Given the description of an element on the screen output the (x, y) to click on. 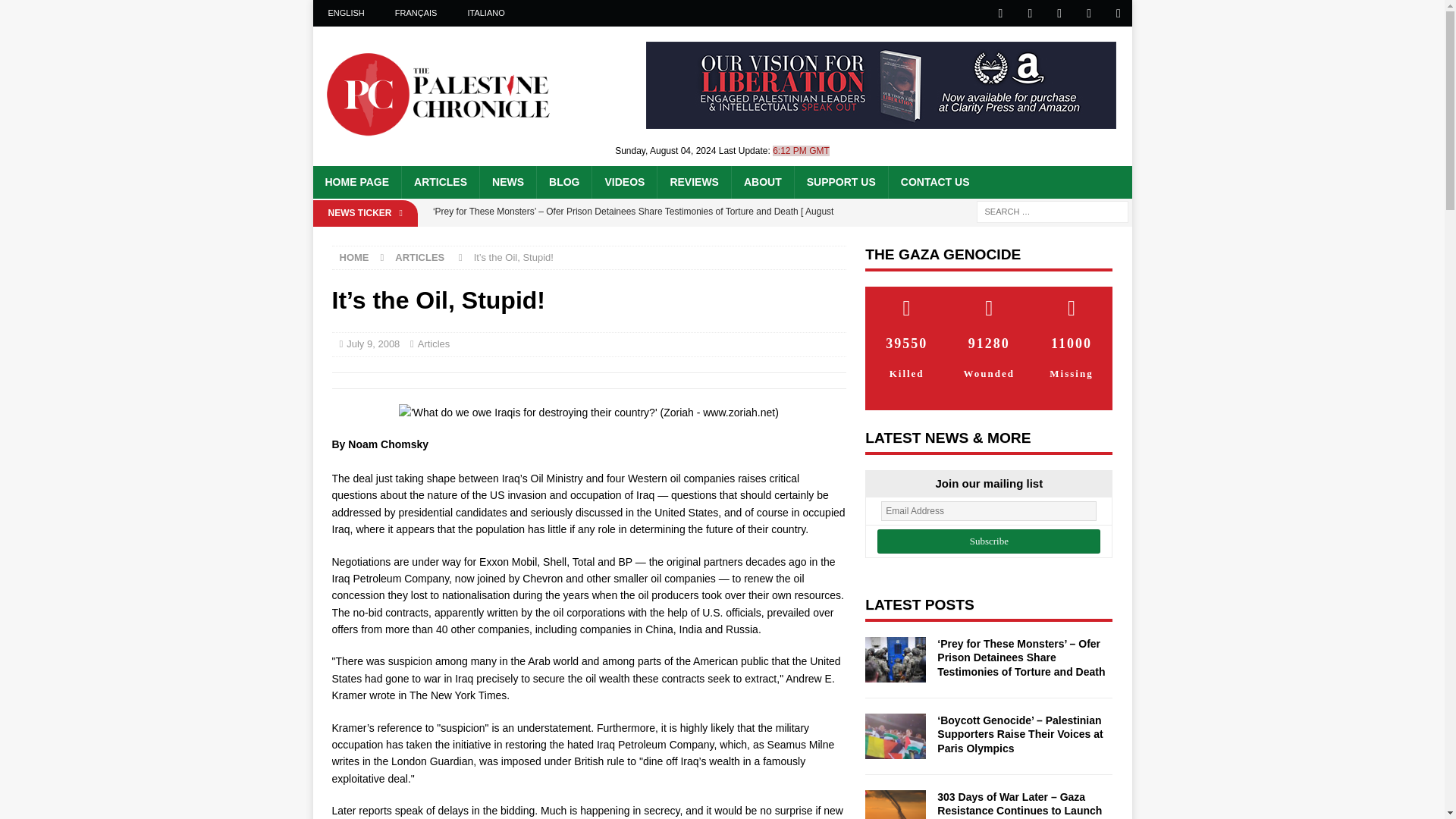
ITALIANO (485, 13)
THE GAZA GENOCIDE (942, 254)
HOME PAGE (357, 182)
July 9, 2008 (372, 343)
SUPPORT US (840, 182)
Articles (433, 343)
Subscribe (988, 541)
ARTICLES (419, 256)
CONTACT US (934, 182)
Search (56, 11)
REVIEWS (693, 182)
NEWS (507, 182)
ARTICLES (440, 182)
HOME (354, 256)
